Given the description of an element on the screen output the (x, y) to click on. 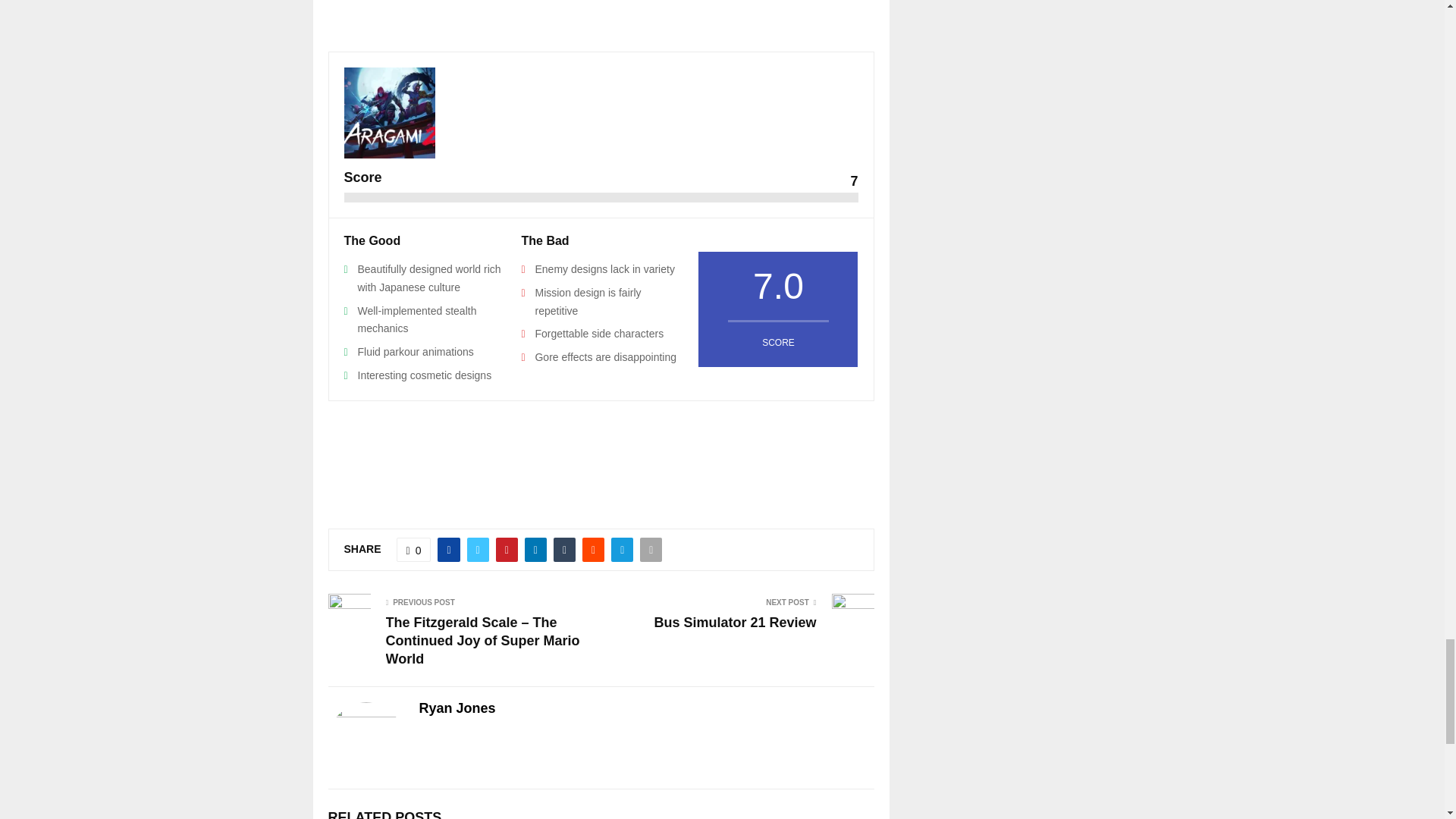
Like (413, 549)
Aragami 2 - Official Launch Trailer (600, 11)
Posts by Ryan Jones (457, 708)
